Given the description of an element on the screen output the (x, y) to click on. 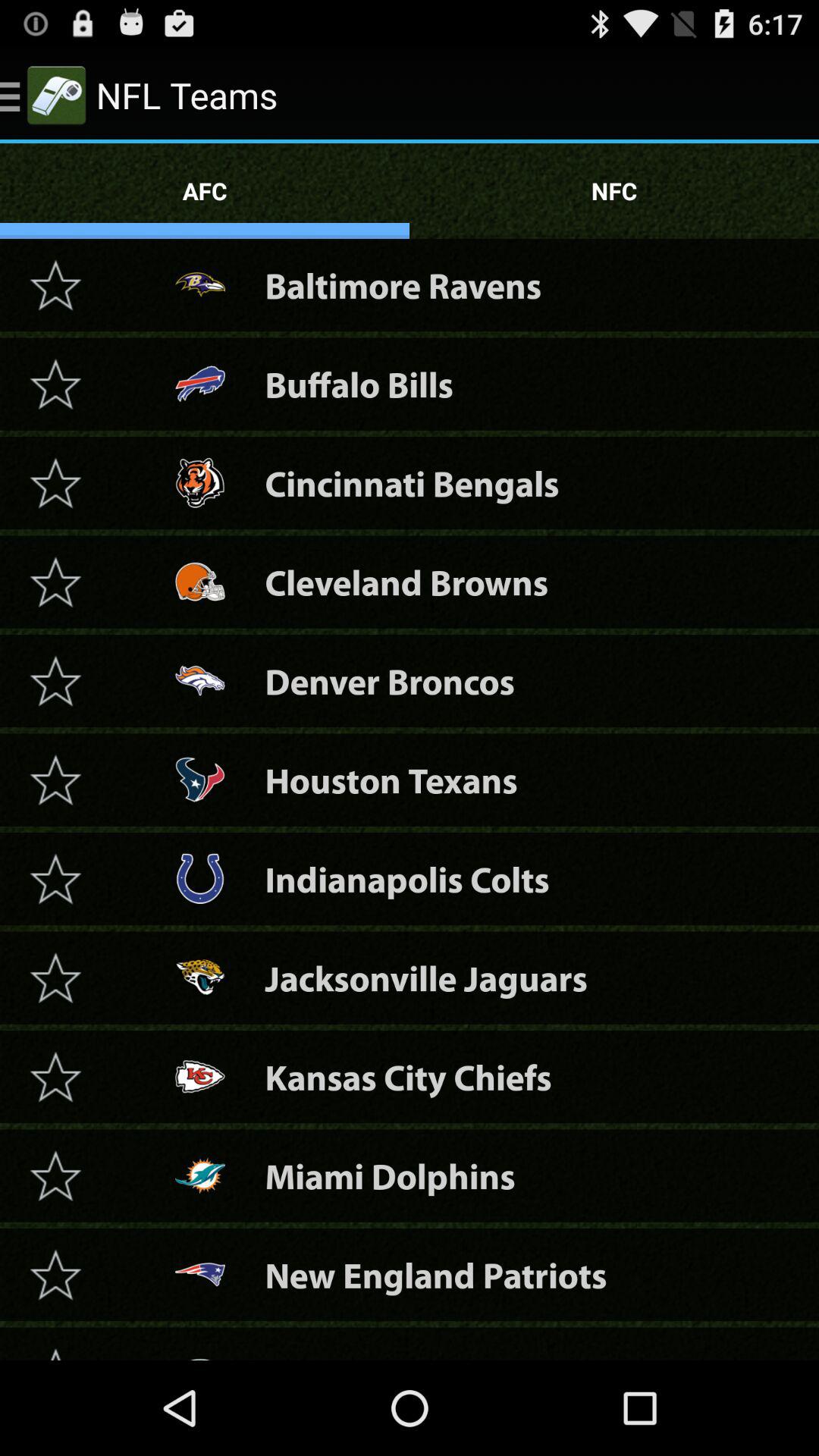
turn on the app below afc app (403, 284)
